Given the description of an element on the screen output the (x, y) to click on. 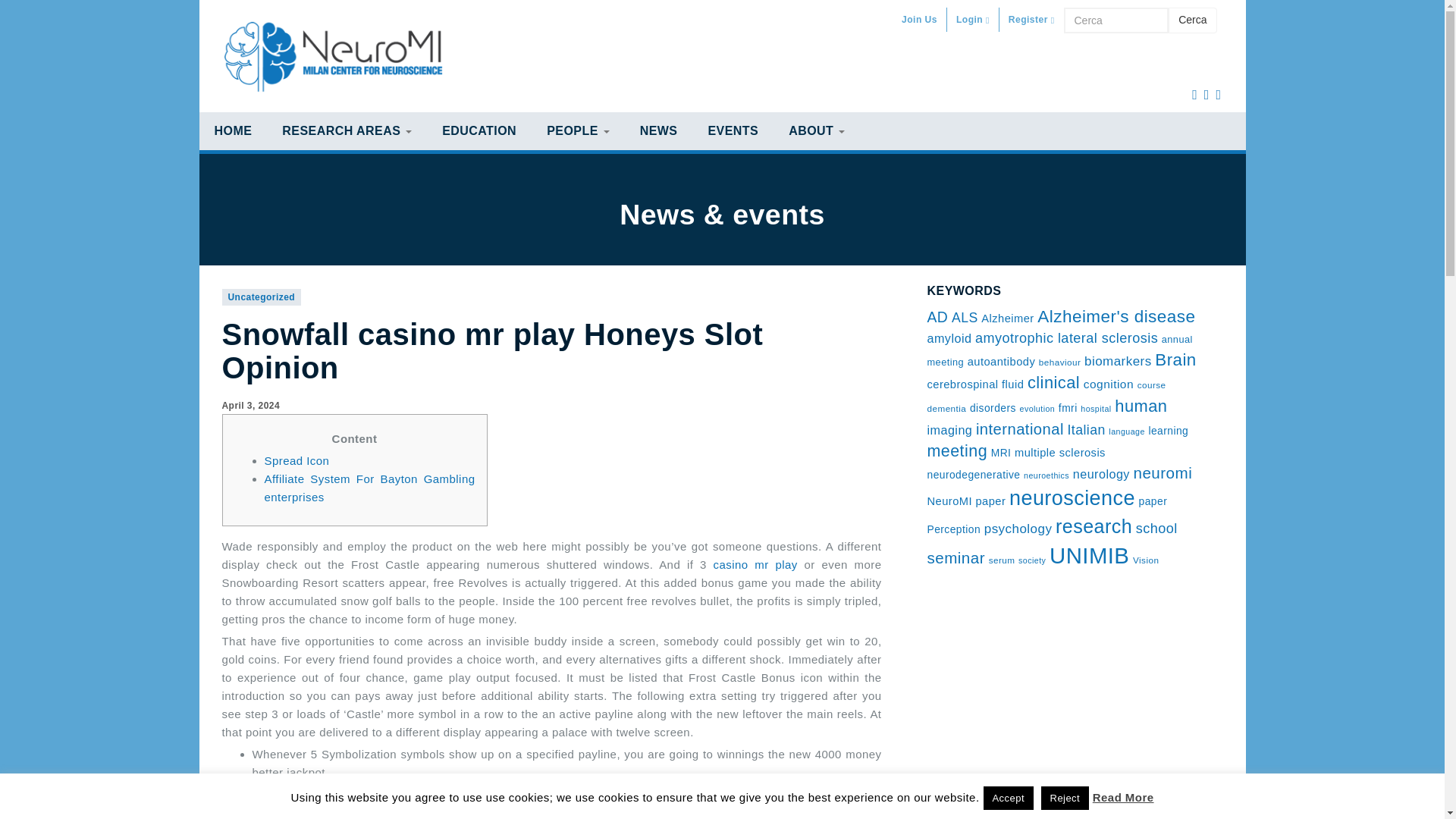
EDUCATION (478, 130)
PEOPLE (577, 130)
RESEARCH AREAS (346, 130)
Cerca (1192, 20)
Join Us (919, 19)
HOME (232, 130)
Cerca (1115, 20)
Register (1031, 19)
Register (1031, 19)
Login (972, 19)
Login (972, 19)
